Given the description of an element on the screen output the (x, y) to click on. 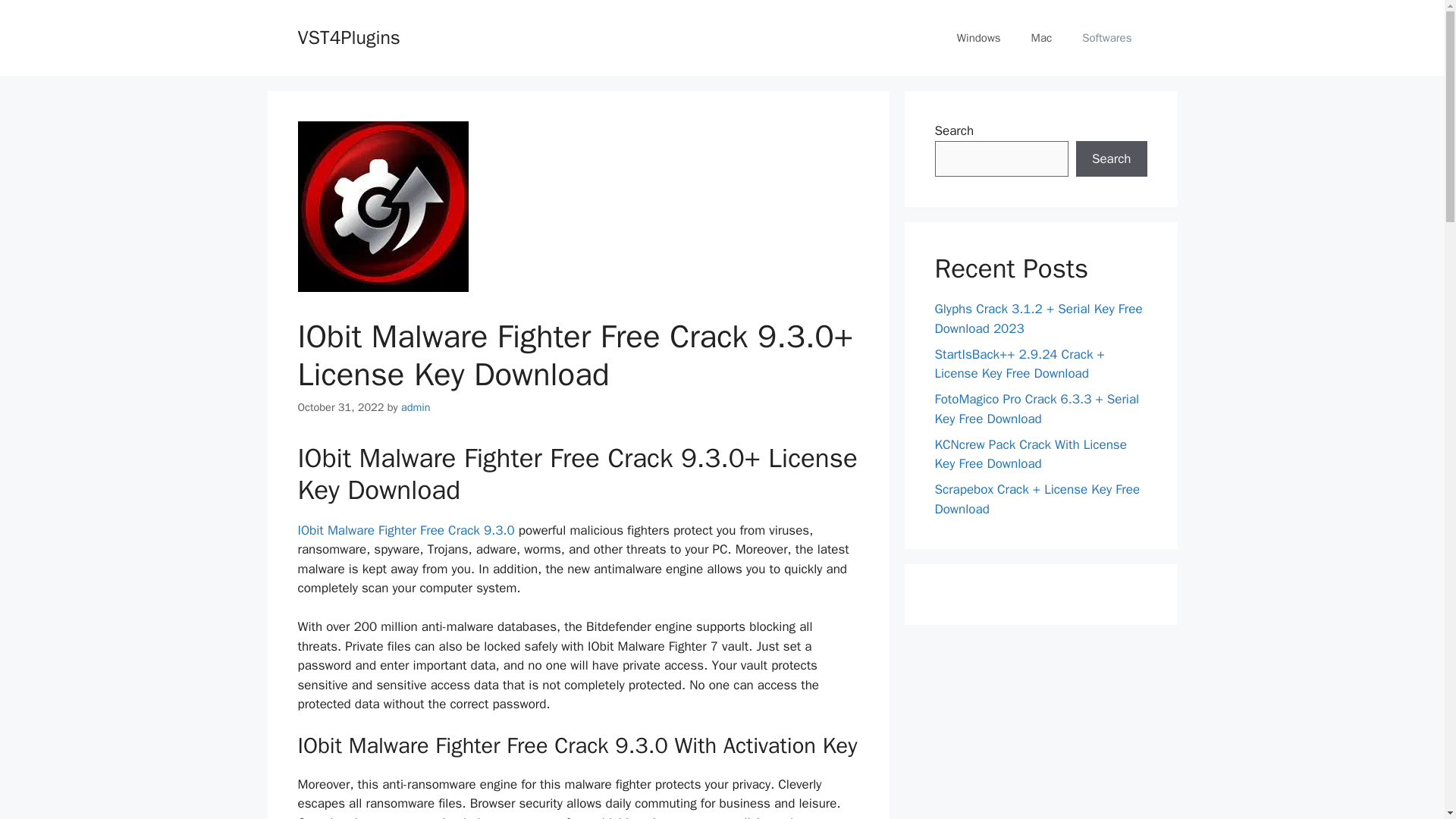
Search (1111, 158)
View all posts by admin (415, 407)
admin (415, 407)
Windows (979, 37)
Mac (1041, 37)
KCNcrew Pack Crack With License Key Free Download (1029, 454)
VST4Plugins (347, 37)
Softwares (1107, 37)
IObit Malware Fighter Free Crack 9.3.0  (407, 530)
